Given the description of an element on the screen output the (x, y) to click on. 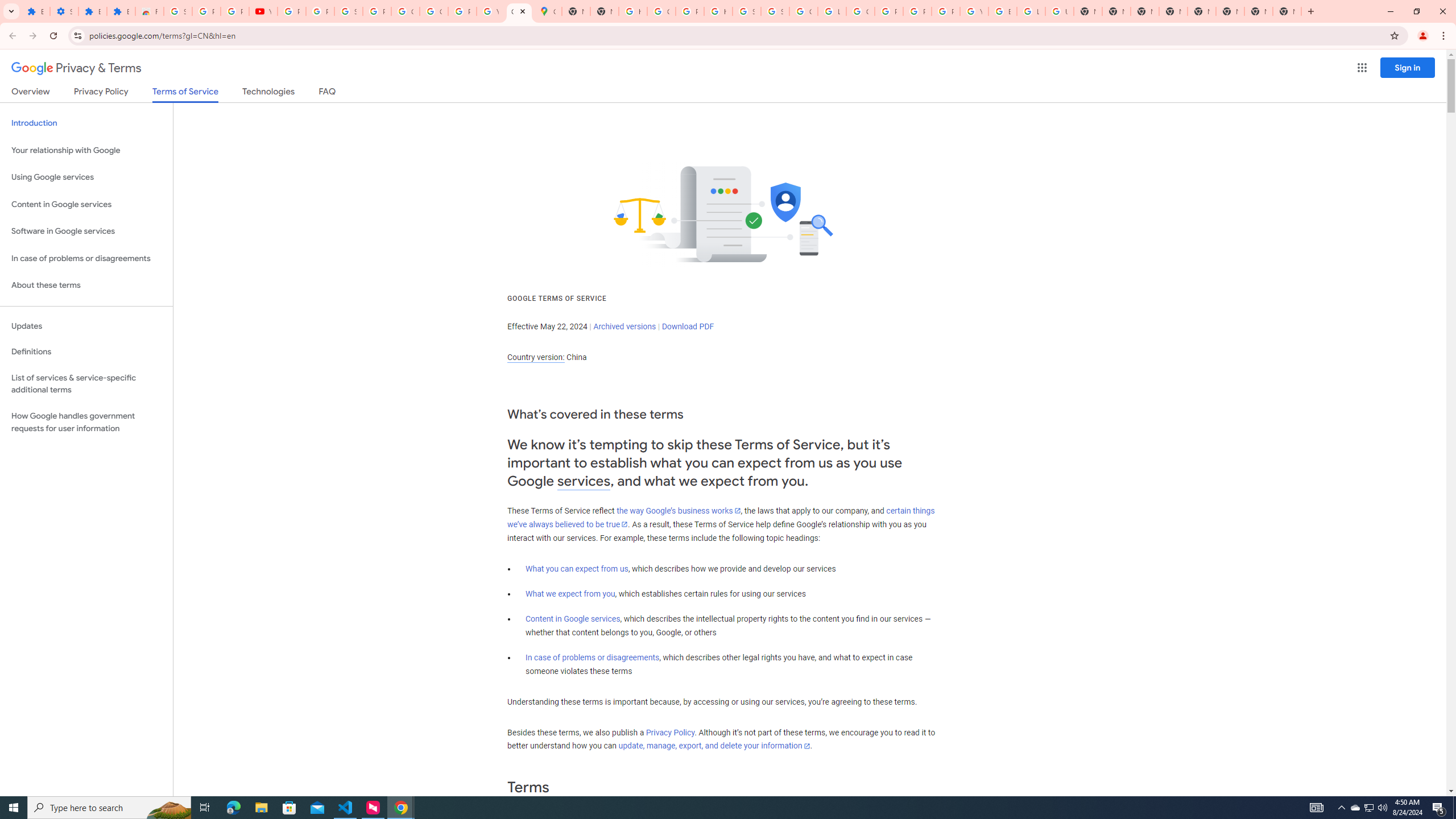
Extensions (35, 11)
Privacy Help Center - Policies Help (917, 11)
Reviews: Helix Fruit Jump Arcade Game (148, 11)
New Tab (1201, 11)
